Given the description of an element on the screen output the (x, y) to click on. 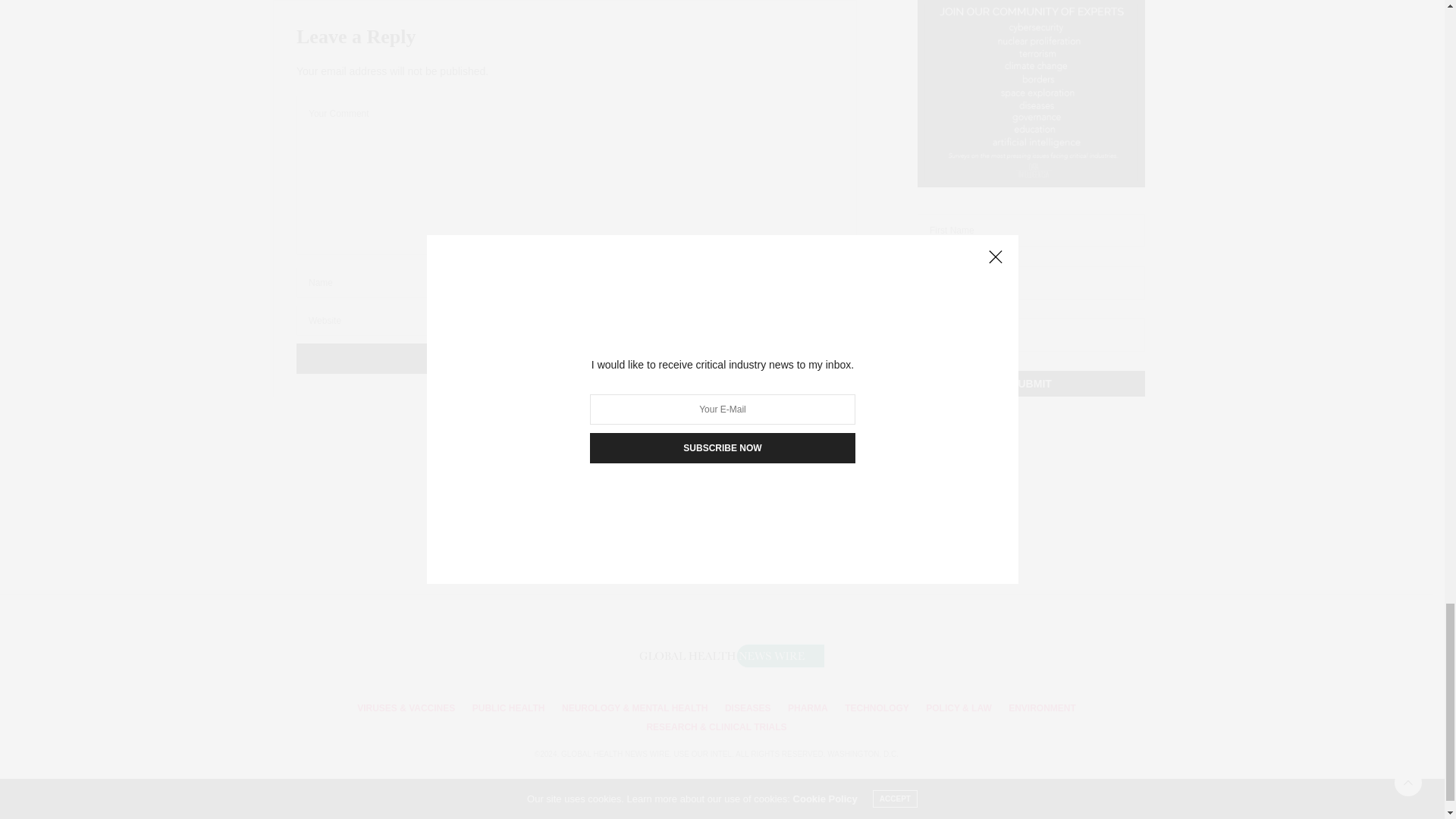
Submit Comment (564, 358)
